Given the description of an element on the screen output the (x, y) to click on. 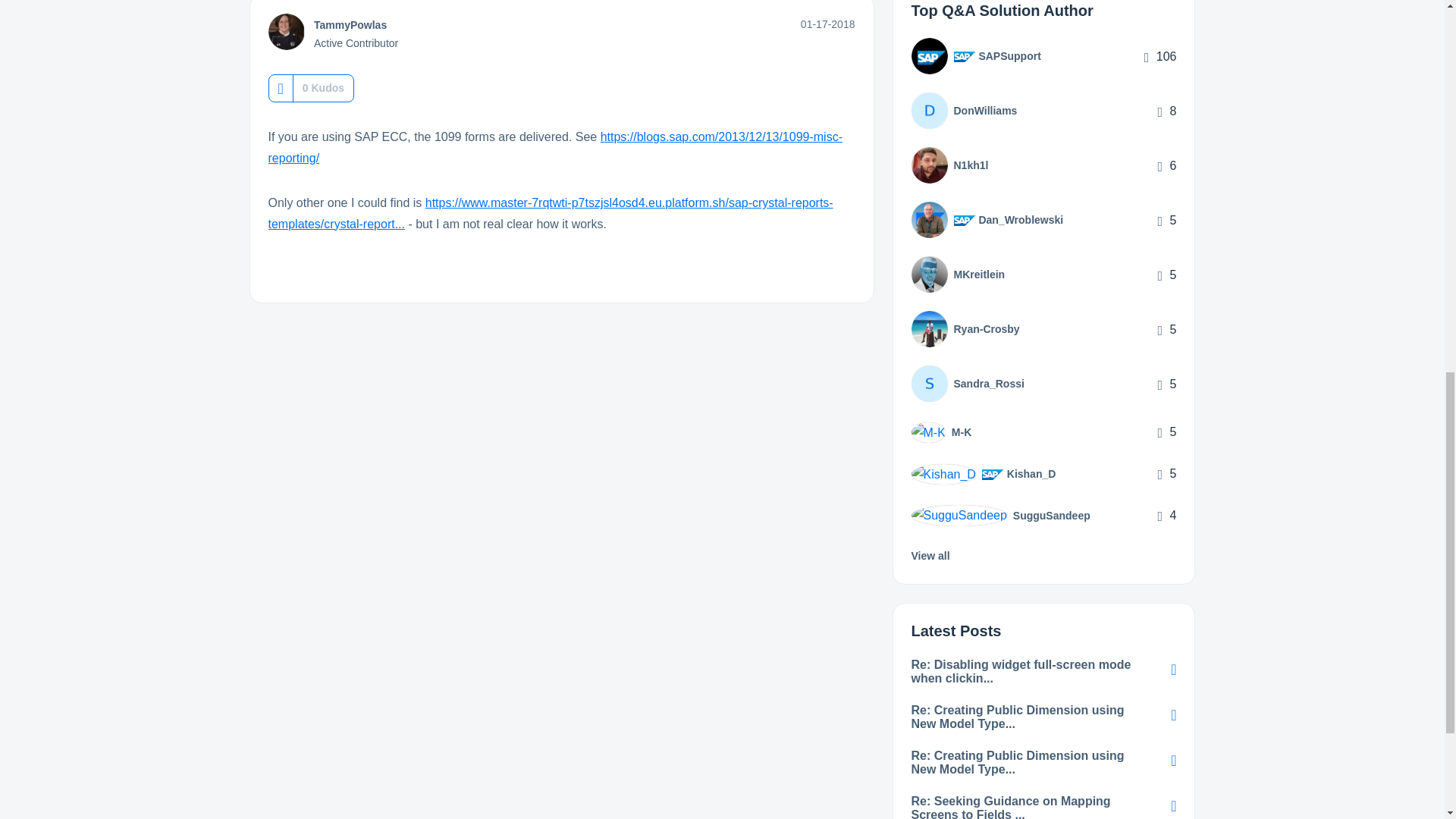
TammyPowlas (285, 31)
TammyPowlas (350, 24)
